Given the description of an element on the screen output the (x, y) to click on. 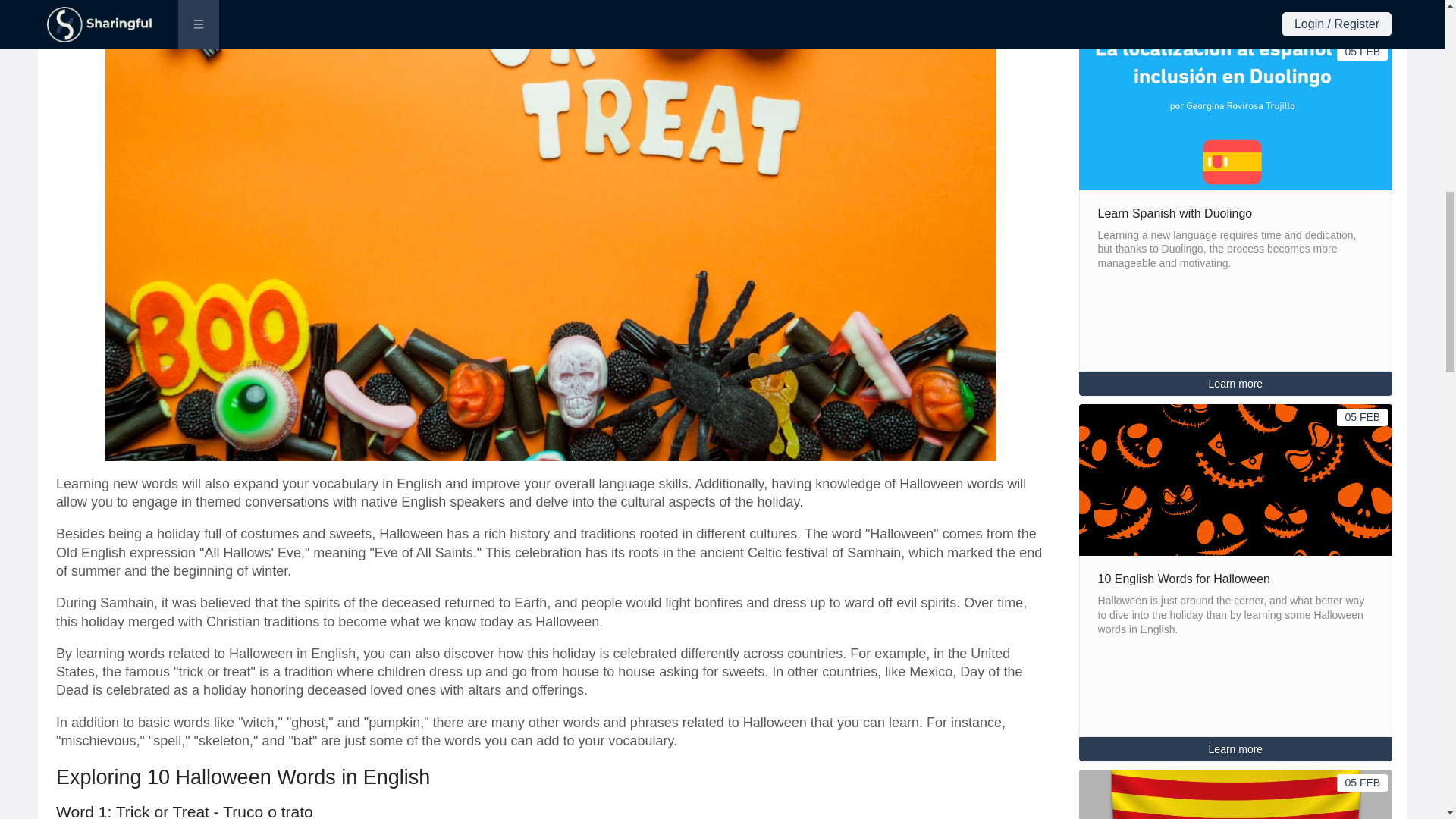
Learn more (1235, 383)
Learn more (1235, 383)
Learn more (1235, 748)
Learn more (1235, 749)
Learn more (1235, 17)
Learn more (1235, 17)
